Given the description of an element on the screen output the (x, y) to click on. 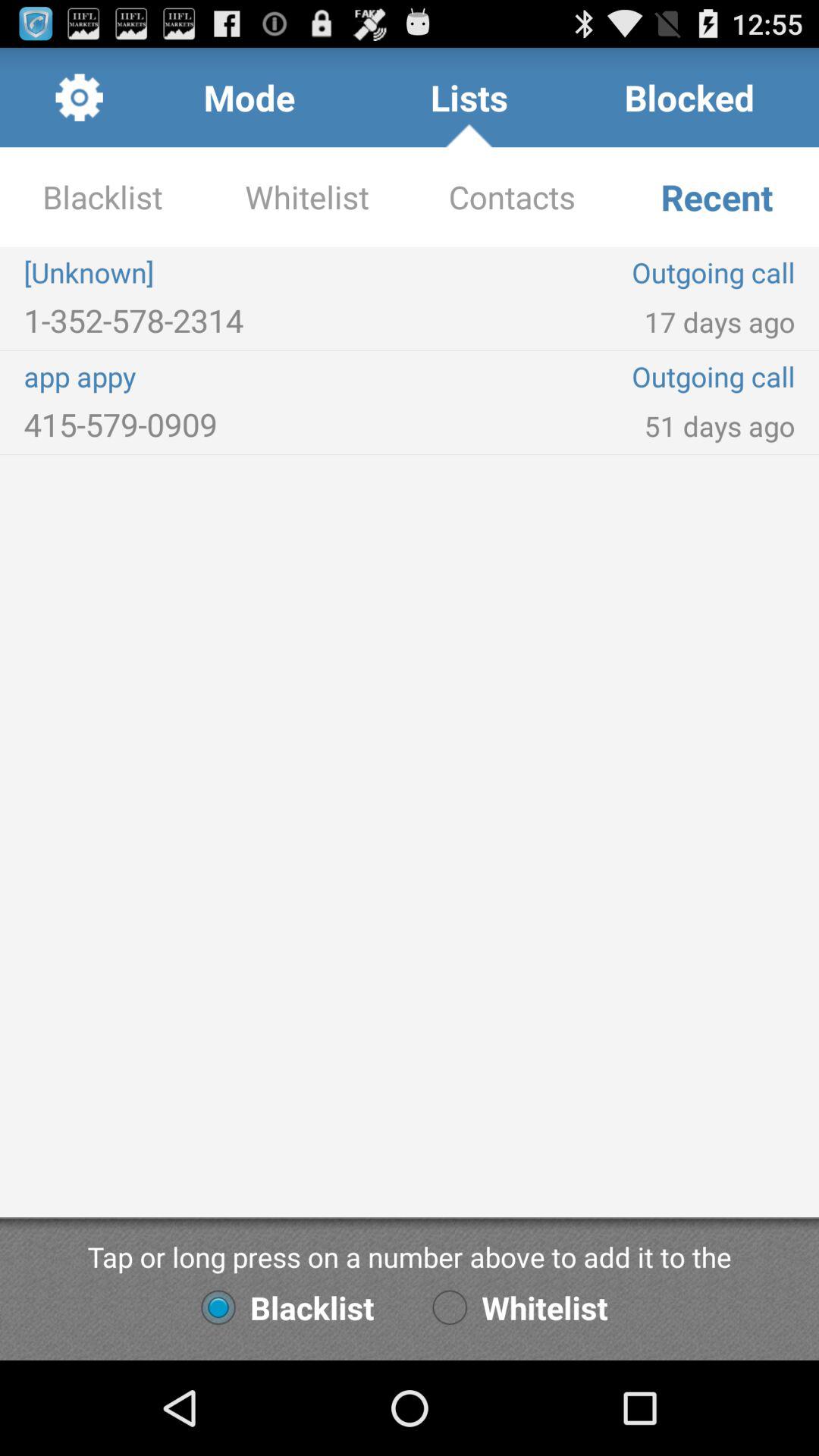
select the icon above the [unknown] (511, 196)
